Given the description of an element on the screen output the (x, y) to click on. 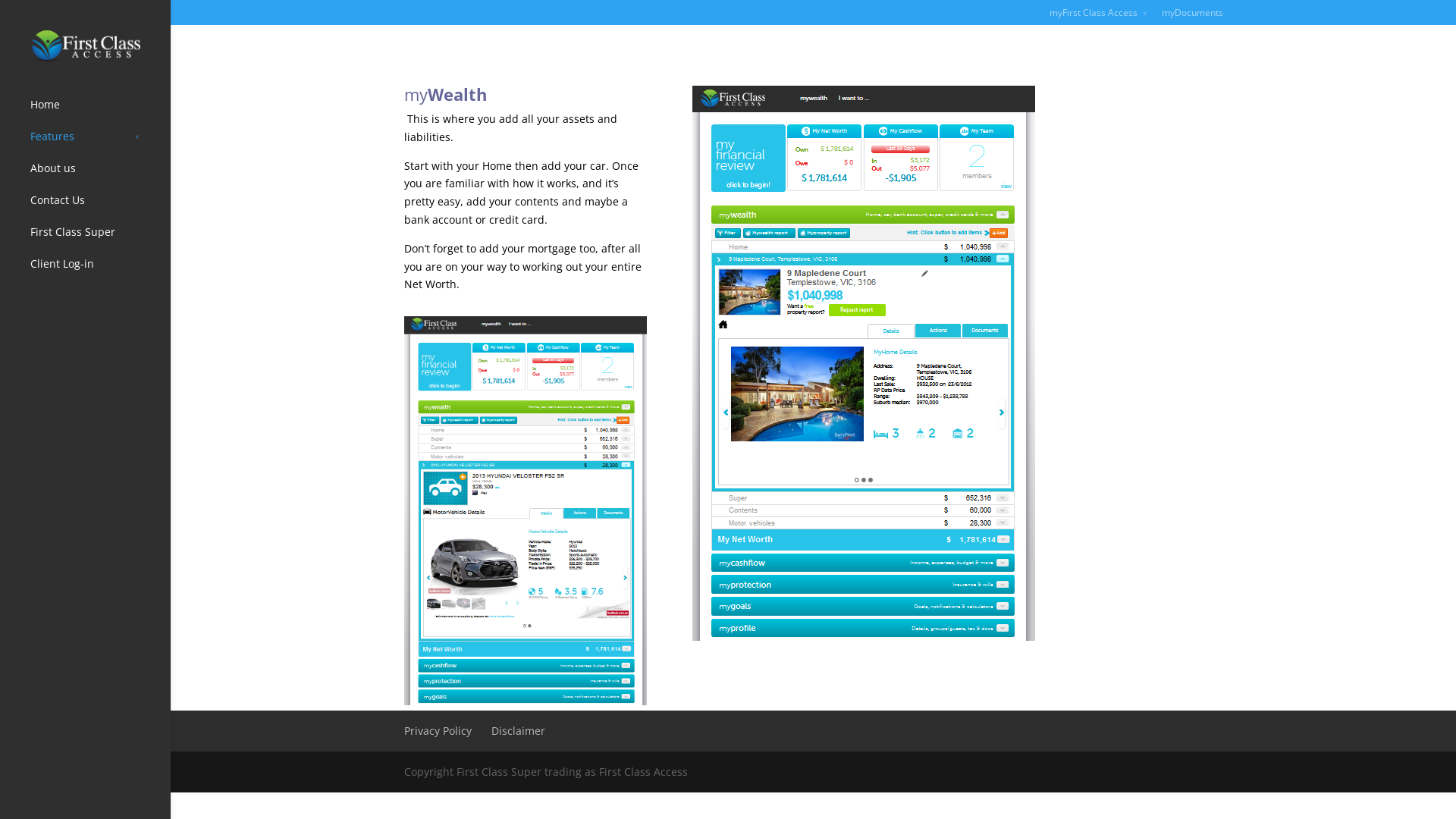
Client Log-in Element type: text (100, 270)
Contact Us Element type: text (100, 206)
Privacy Policy Element type: text (436, 730)
First Class Super Element type: text (100, 238)
Home Element type: text (100, 111)
myFirst Class Access Element type: text (1098, 17)
Features Element type: text (100, 143)
Disclaimer Element type: text (518, 730)
About us Element type: text (100, 175)
myDocuments Element type: text (1192, 17)
